Given the description of an element on the screen output the (x, y) to click on. 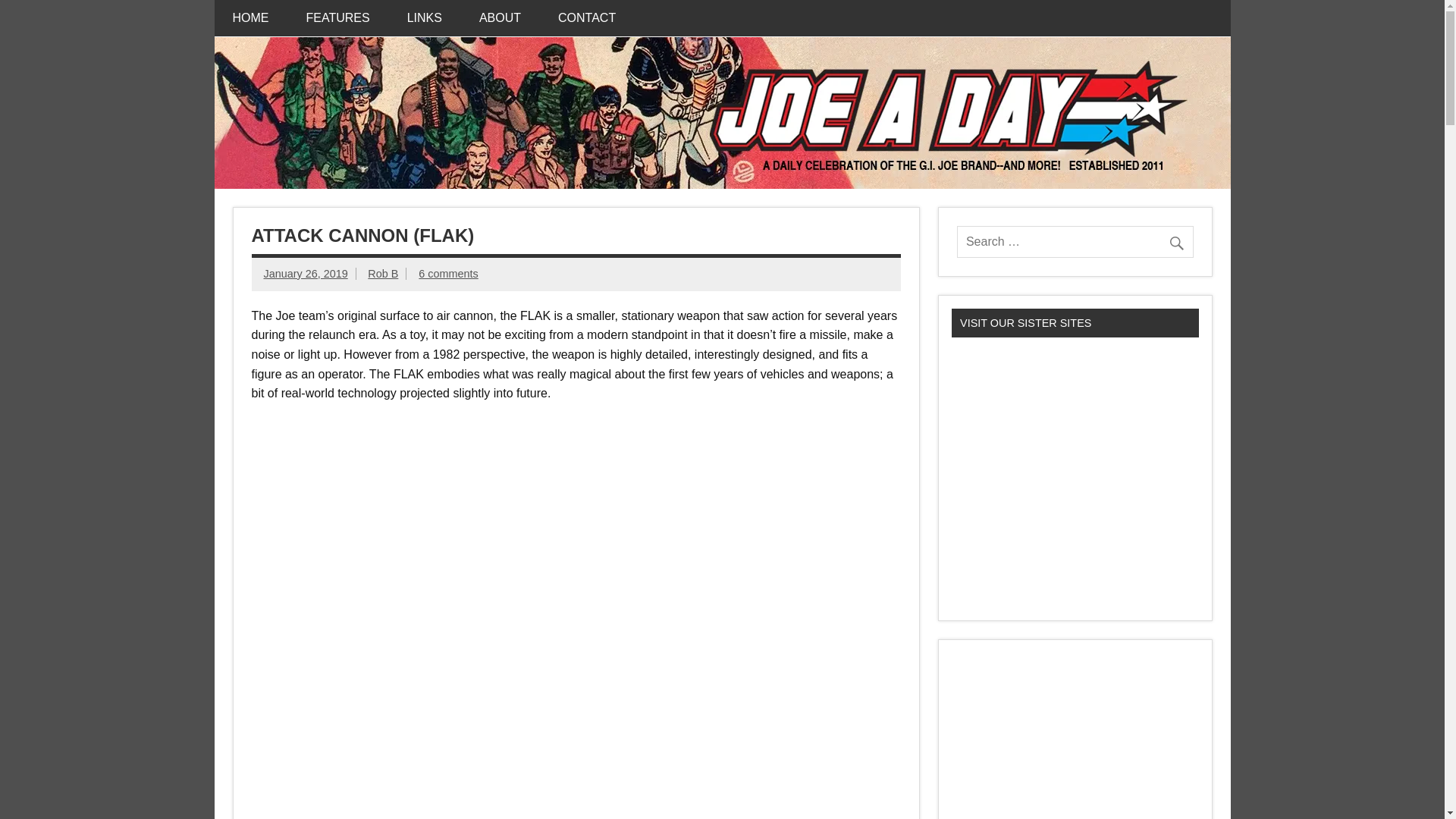
January 26, 2019 (305, 273)
Rob B (382, 273)
6 comments (448, 273)
7:42 pm (305, 273)
HOME (250, 18)
FEATURES (338, 18)
ABOUT (499, 18)
LINKS (424, 18)
CONTACT (586, 18)
View all posts by Rob B (382, 273)
